Given the description of an element on the screen output the (x, y) to click on. 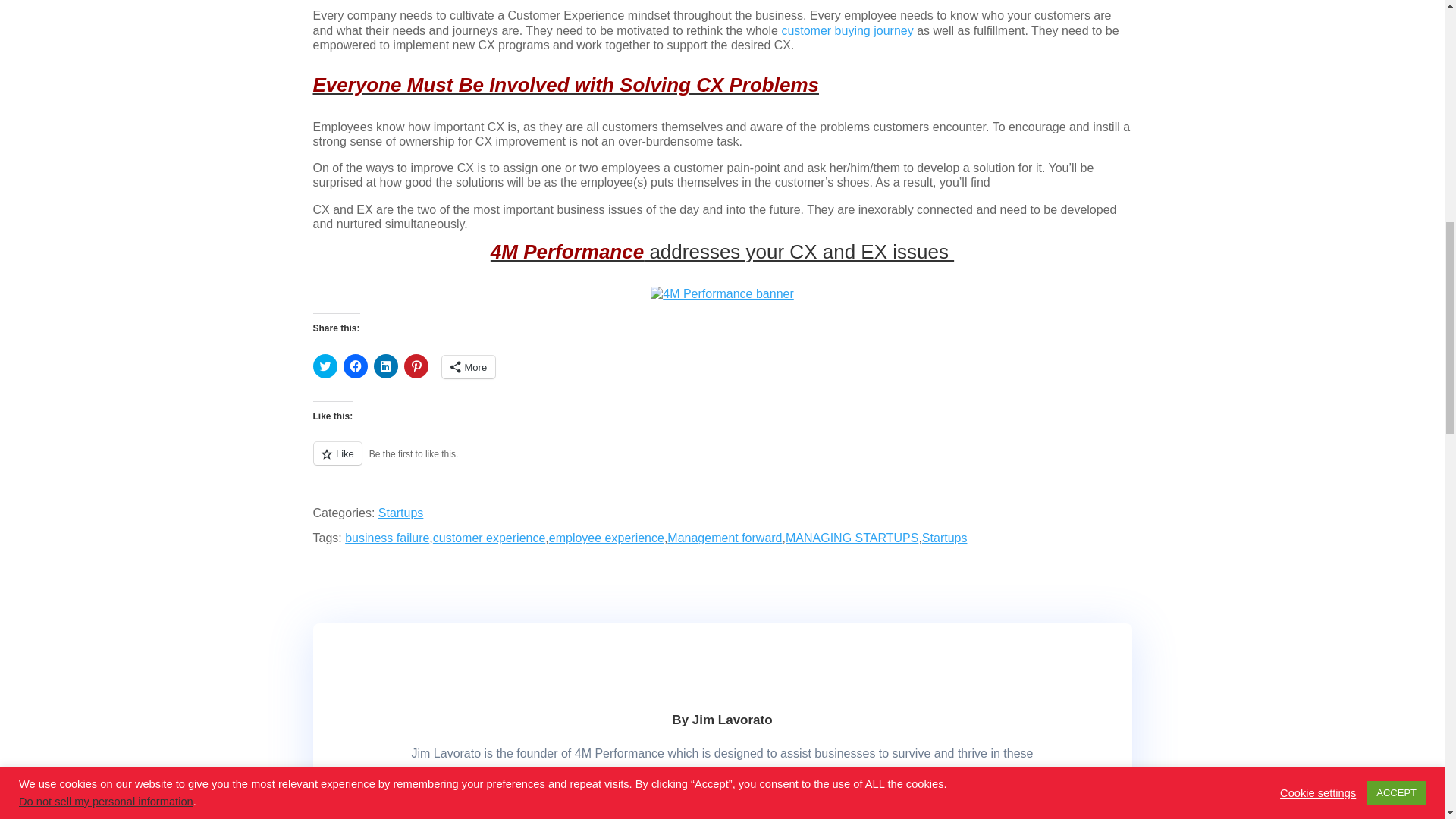
More (468, 366)
customer buying journey (846, 30)
4M Performance addresses your CX and EX issues  (721, 251)
Click to share on Pinterest (415, 365)
Click to share on Facebook (354, 365)
Click to share on Twitter (324, 365)
Click to share on LinkedIn (384, 365)
